Given the description of an element on the screen output the (x, y) to click on. 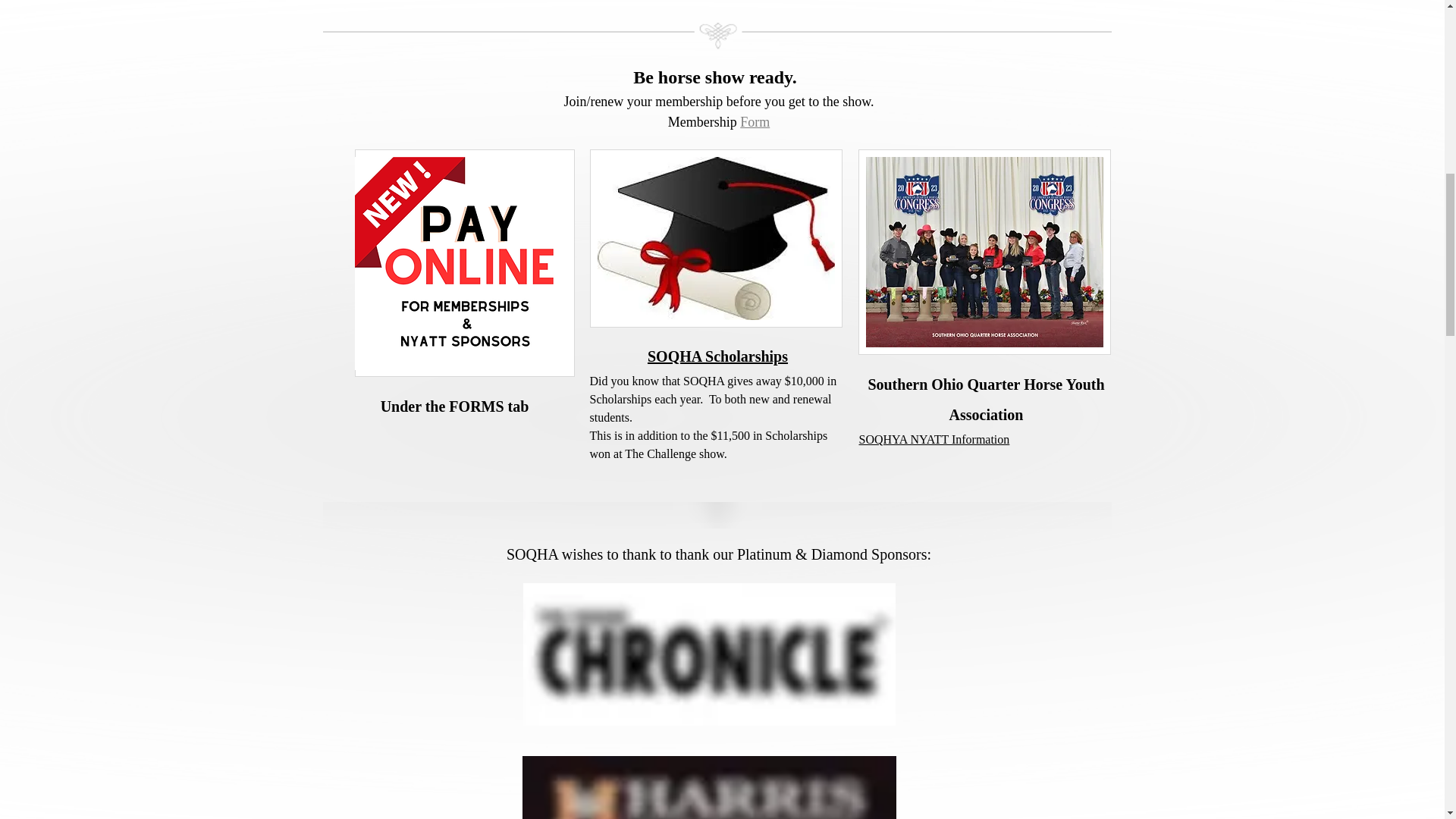
SOQHYA NYATT Information (934, 440)
Southern Ohio Quarter Horse Youth Association (985, 402)
Form (754, 123)
SOQHA Scholarships (717, 358)
